Given the description of an element on the screen output the (x, y) to click on. 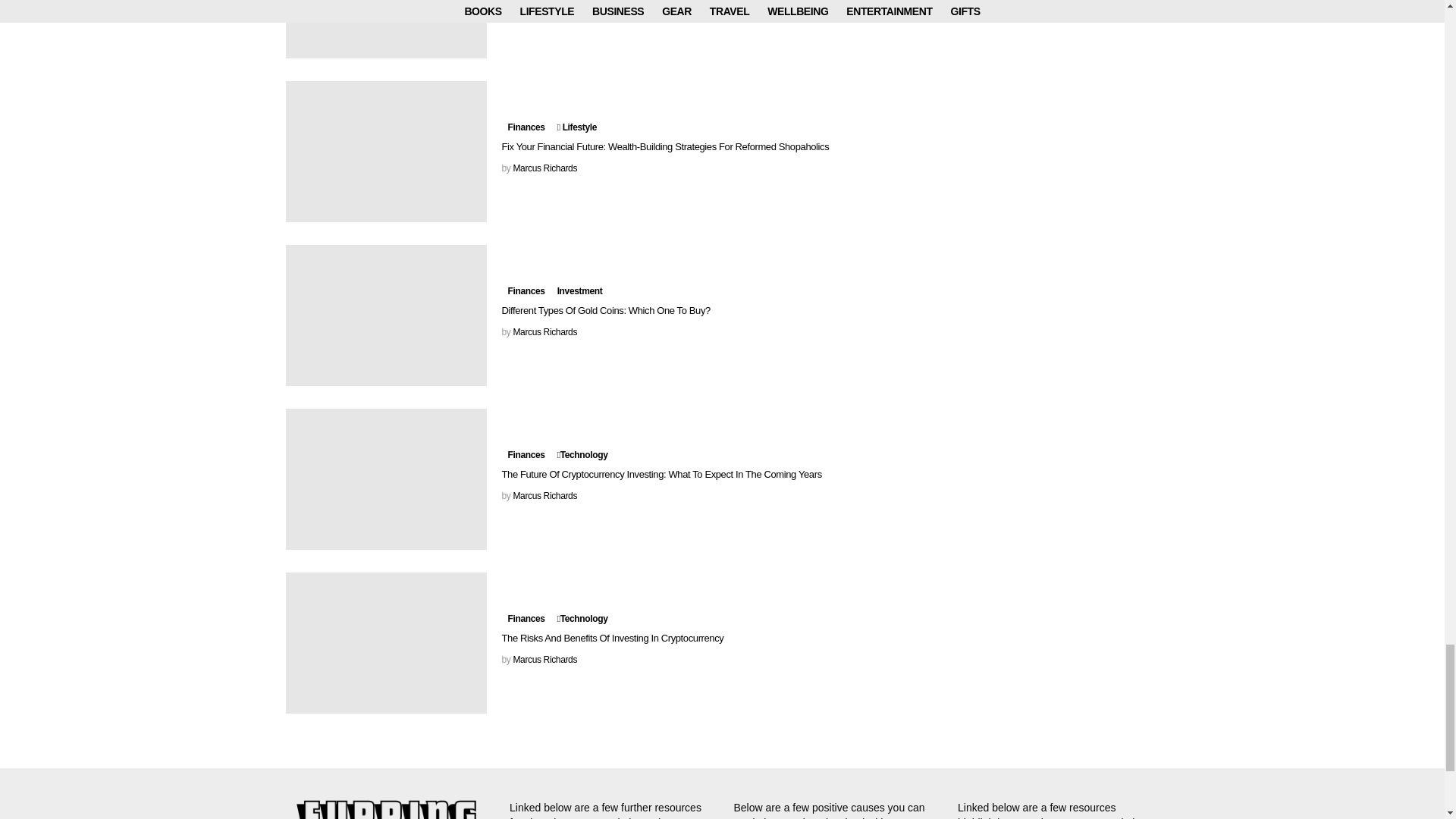
Posts by Anna Maria Richards (552, 4)
